Given the description of an element on the screen output the (x, y) to click on. 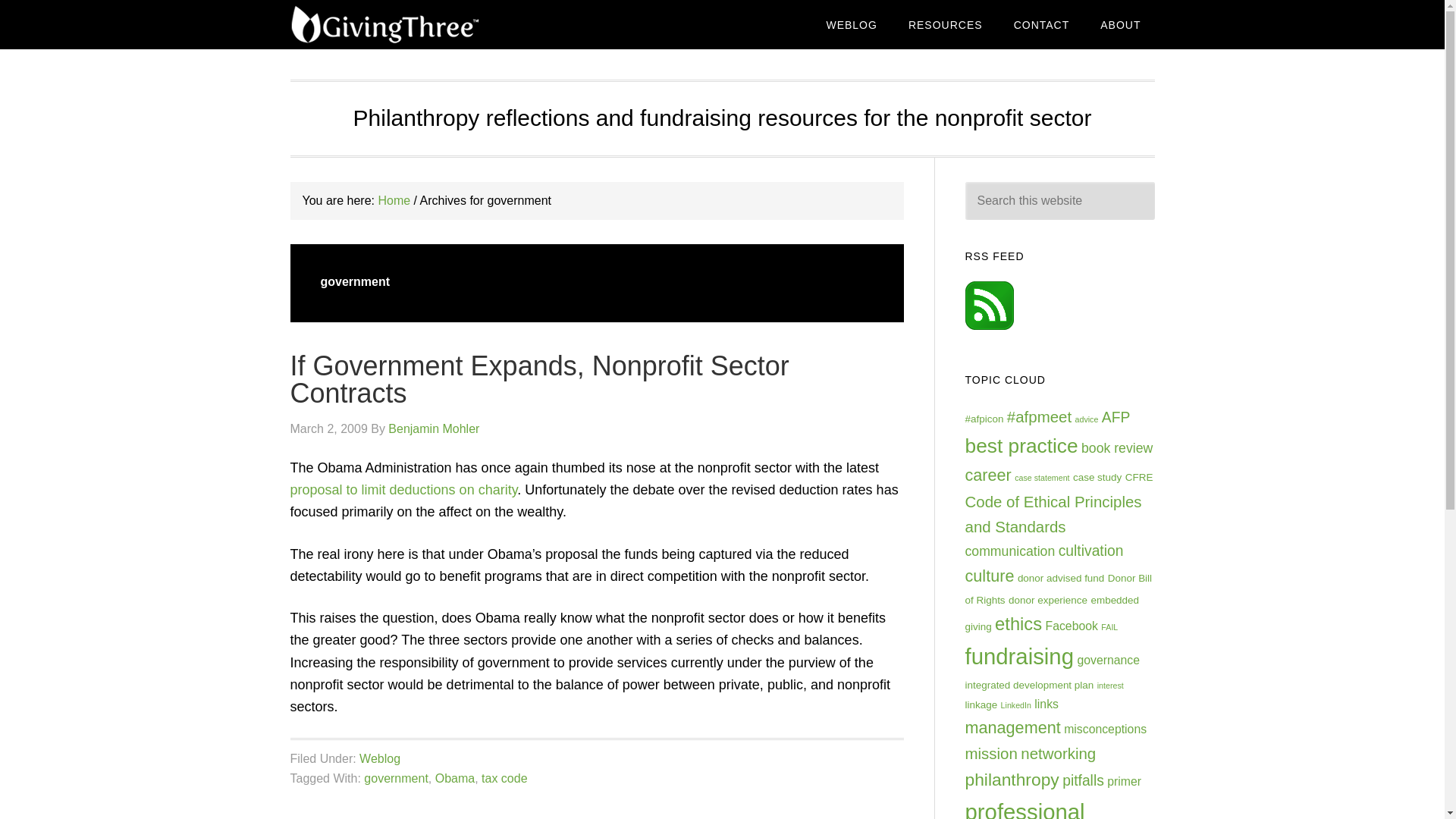
advice (1087, 419)
career (986, 475)
Code of Ethical Principles and Standards (1052, 514)
government (396, 778)
best practice (1020, 445)
communication (1008, 550)
Facebook (1071, 625)
case statement (1041, 477)
WEBLOG (850, 24)
GIVINGTHREE (410, 24)
cultivation (1091, 550)
culture (988, 575)
Benjamin Mohler (433, 428)
